Given the description of an element on the screen output the (x, y) to click on. 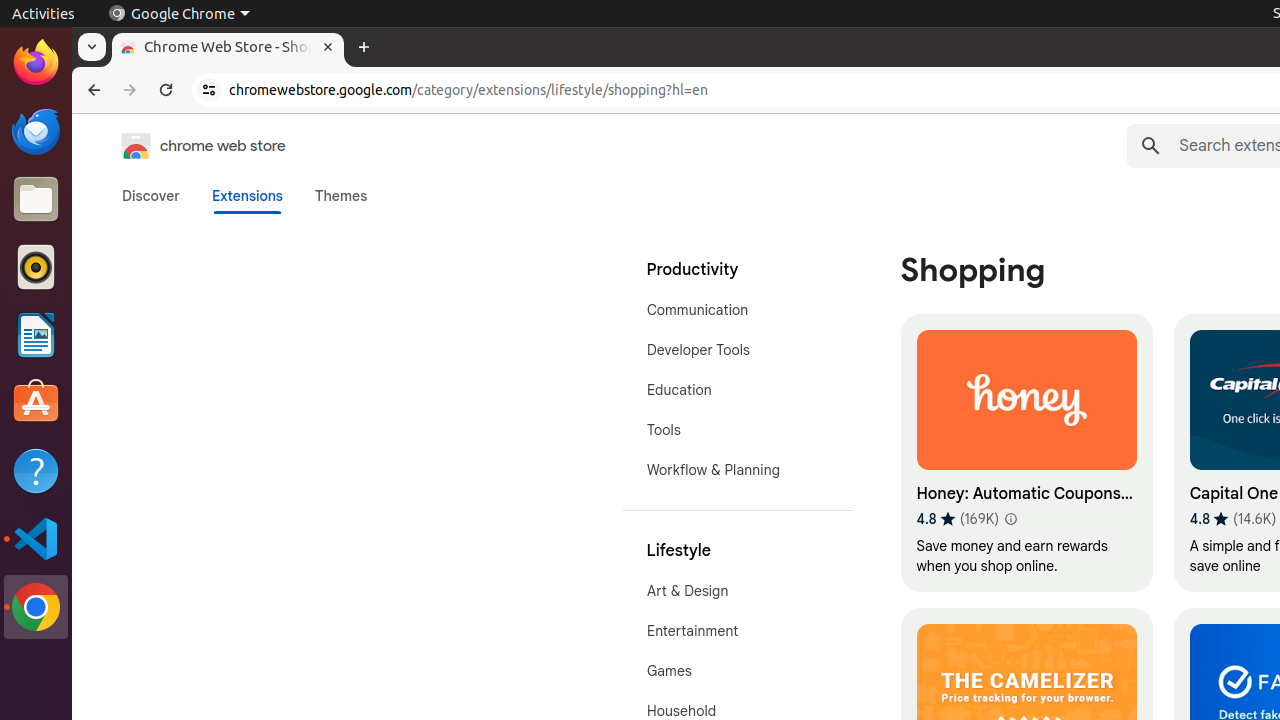
Visual Studio Code Element type: push-button (36, 538)
Rhythmbox Element type: push-button (36, 267)
Games Element type: menu-item (737, 671)
Help Element type: push-button (36, 470)
Developer Tools Element type: menu-item (737, 349)
